Given the description of an element on the screen output the (x, y) to click on. 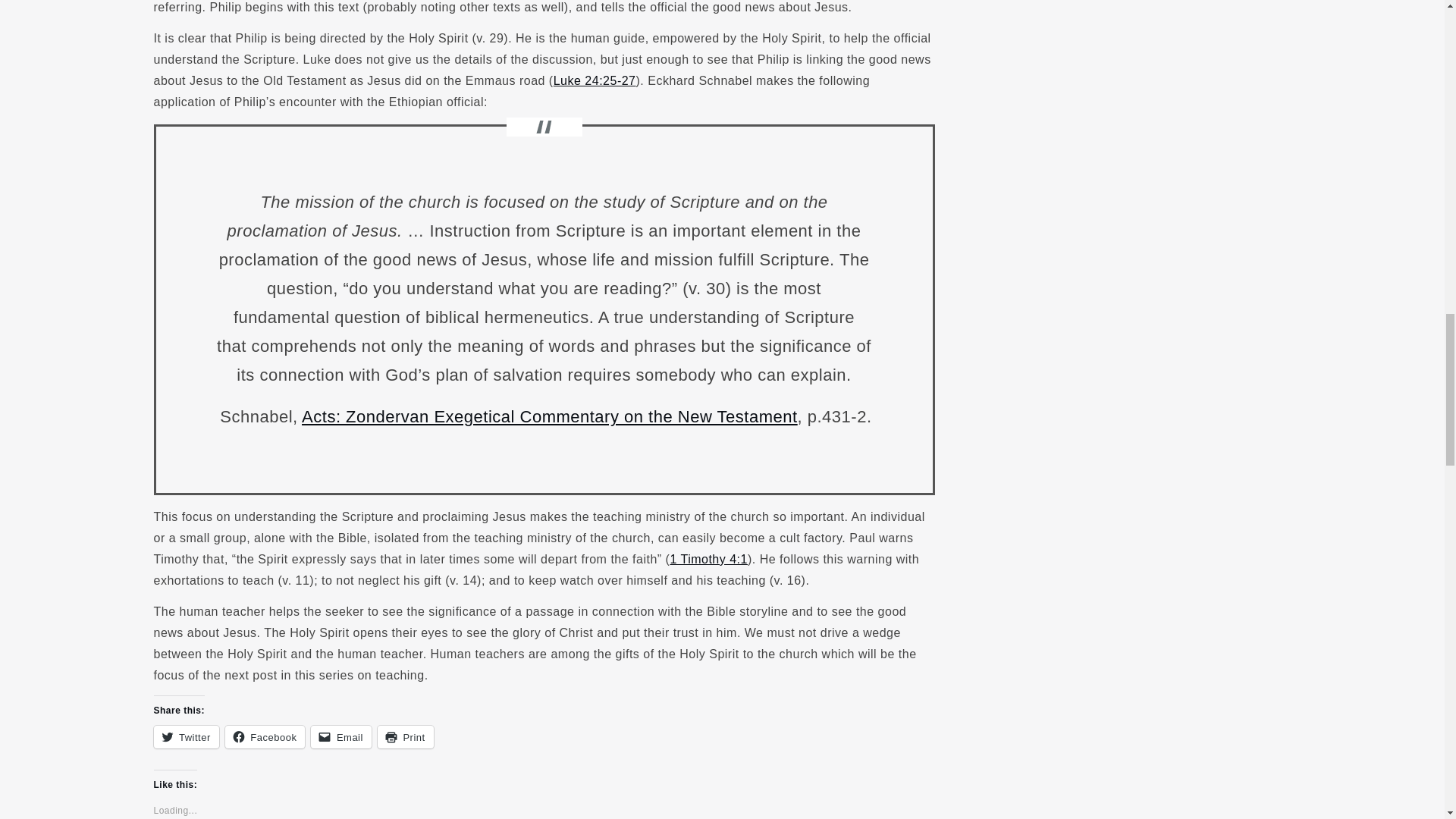
Twitter (185, 736)
1 Timothy 4:1 (708, 558)
Click to print (405, 736)
Click to email a link to a friend (341, 736)
Facebook (265, 736)
Print (405, 736)
Click to share on Facebook (265, 736)
Email (341, 736)
Click to share on Twitter (185, 736)
Acts: Zondervan Exegetical Commentary on the New Testament (548, 416)
Luke 24:25-27 (594, 80)
